Given the description of an element on the screen output the (x, y) to click on. 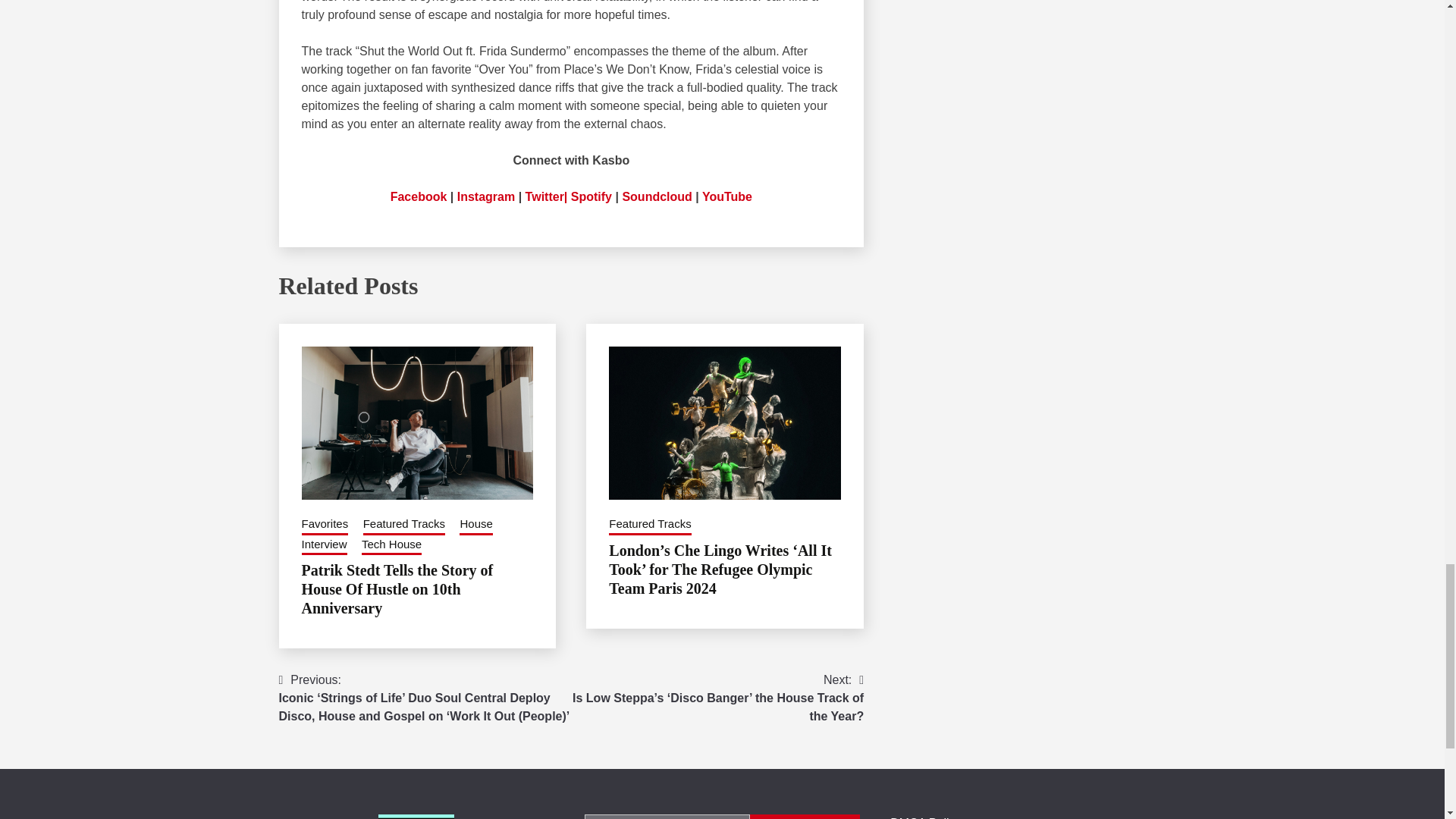
Instagram (486, 196)
Search (804, 816)
Facebook (418, 196)
YouTube (726, 196)
Spotify (590, 196)
Search (804, 816)
Twitter (544, 196)
Soundcloud (656, 196)
